Given the description of an element on the screen output the (x, y) to click on. 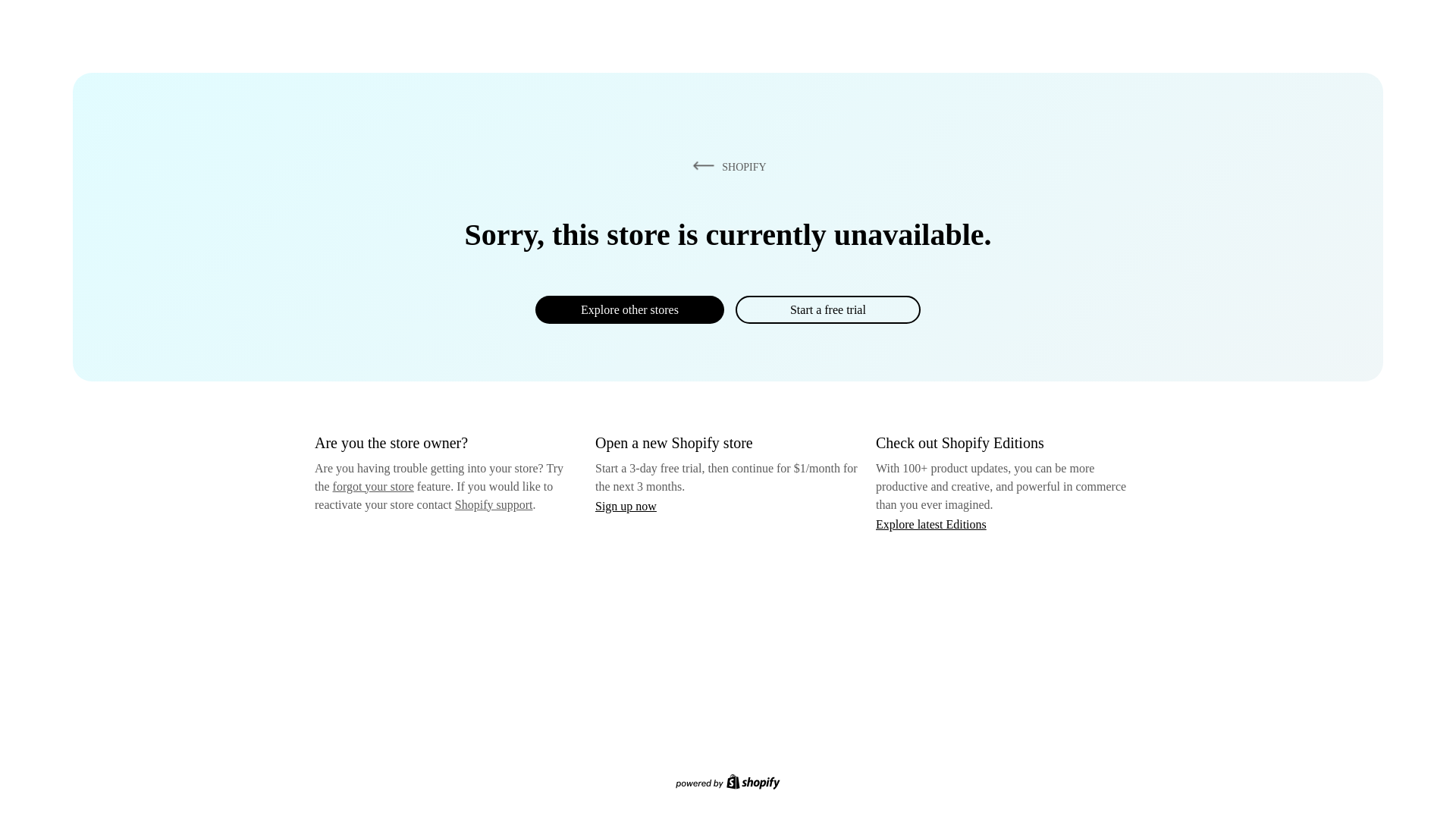
Explore other stores (629, 309)
Explore latest Editions (931, 523)
SHOPIFY (726, 166)
Shopify support (493, 504)
forgot your store (373, 486)
Sign up now (625, 505)
Start a free trial (827, 309)
